Given the description of an element on the screen output the (x, y) to click on. 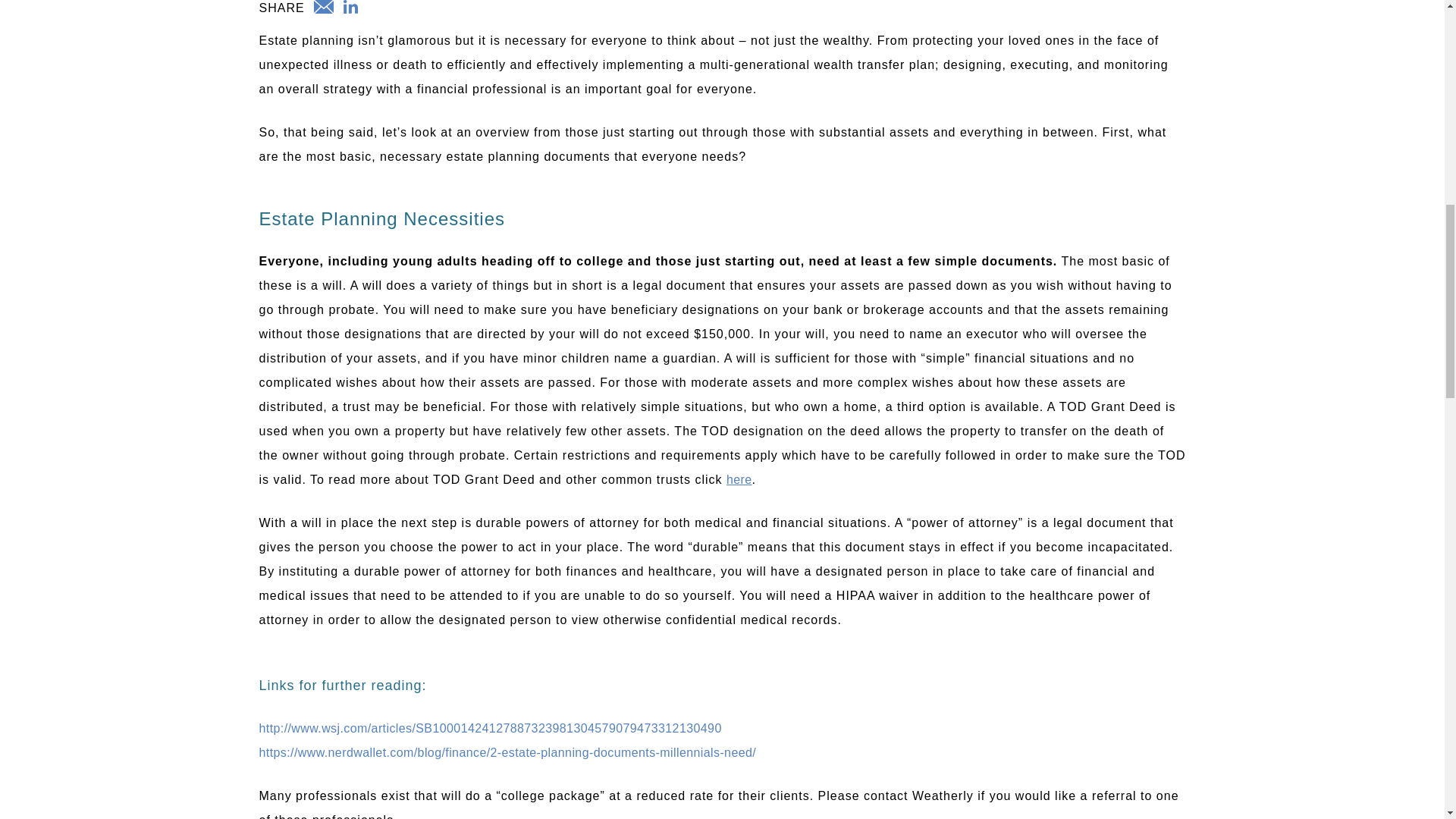
here (739, 479)
